Given the description of an element on the screen output the (x, y) to click on. 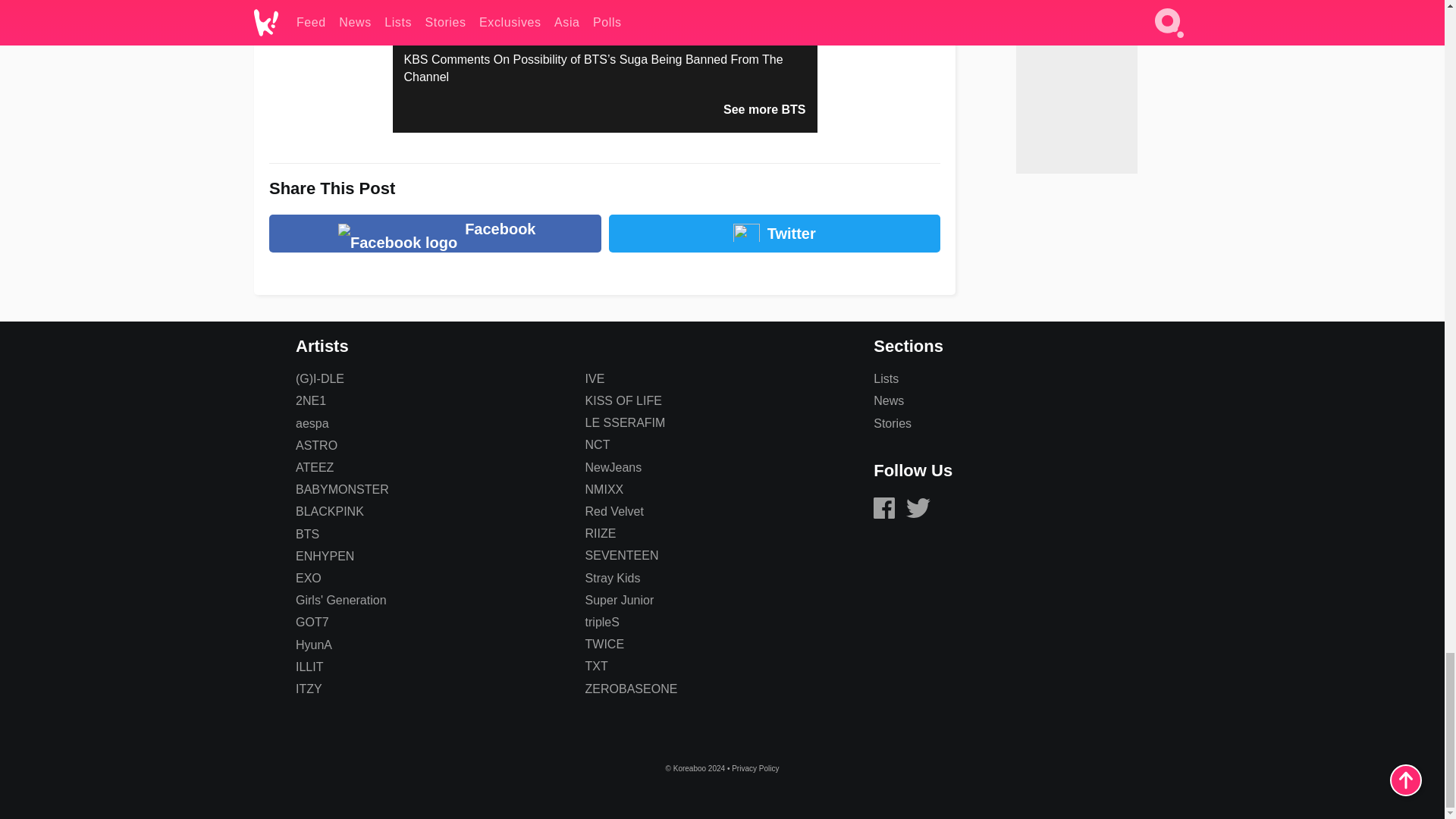
See more BTS (764, 109)
ENHYPEN (324, 555)
aespa (312, 422)
EXO (308, 577)
NCT (597, 444)
BLACKPINK (329, 511)
BABYMONSTER (341, 489)
ITZY (308, 688)
ATEEZ (314, 467)
IVE (595, 378)
